Given the description of an element on the screen output the (x, y) to click on. 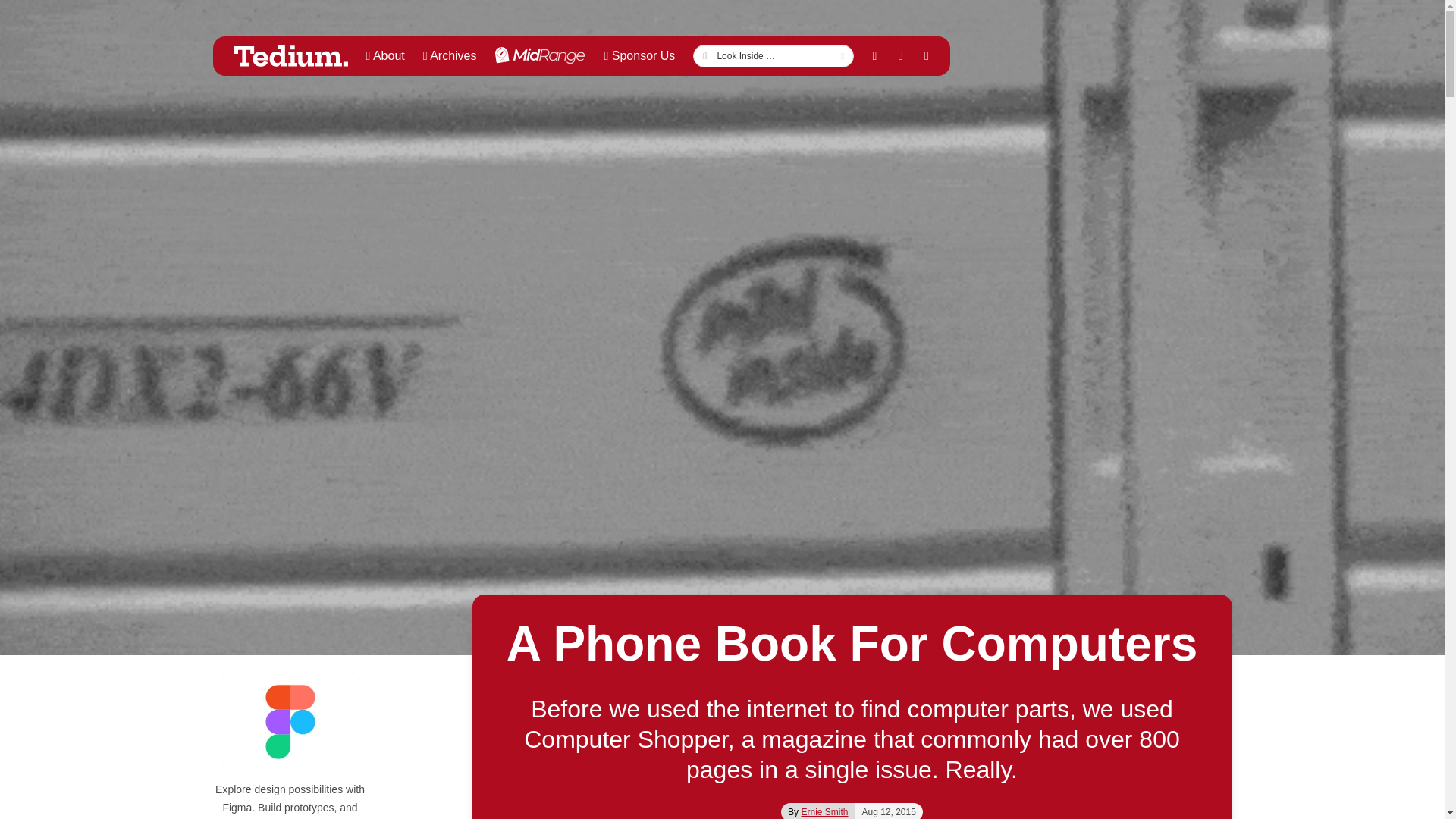
Ernie Smith (823, 811)
 Archives (449, 56)
 Sponsor Us (639, 56)
 About (384, 56)
